Given the description of an element on the screen output the (x, y) to click on. 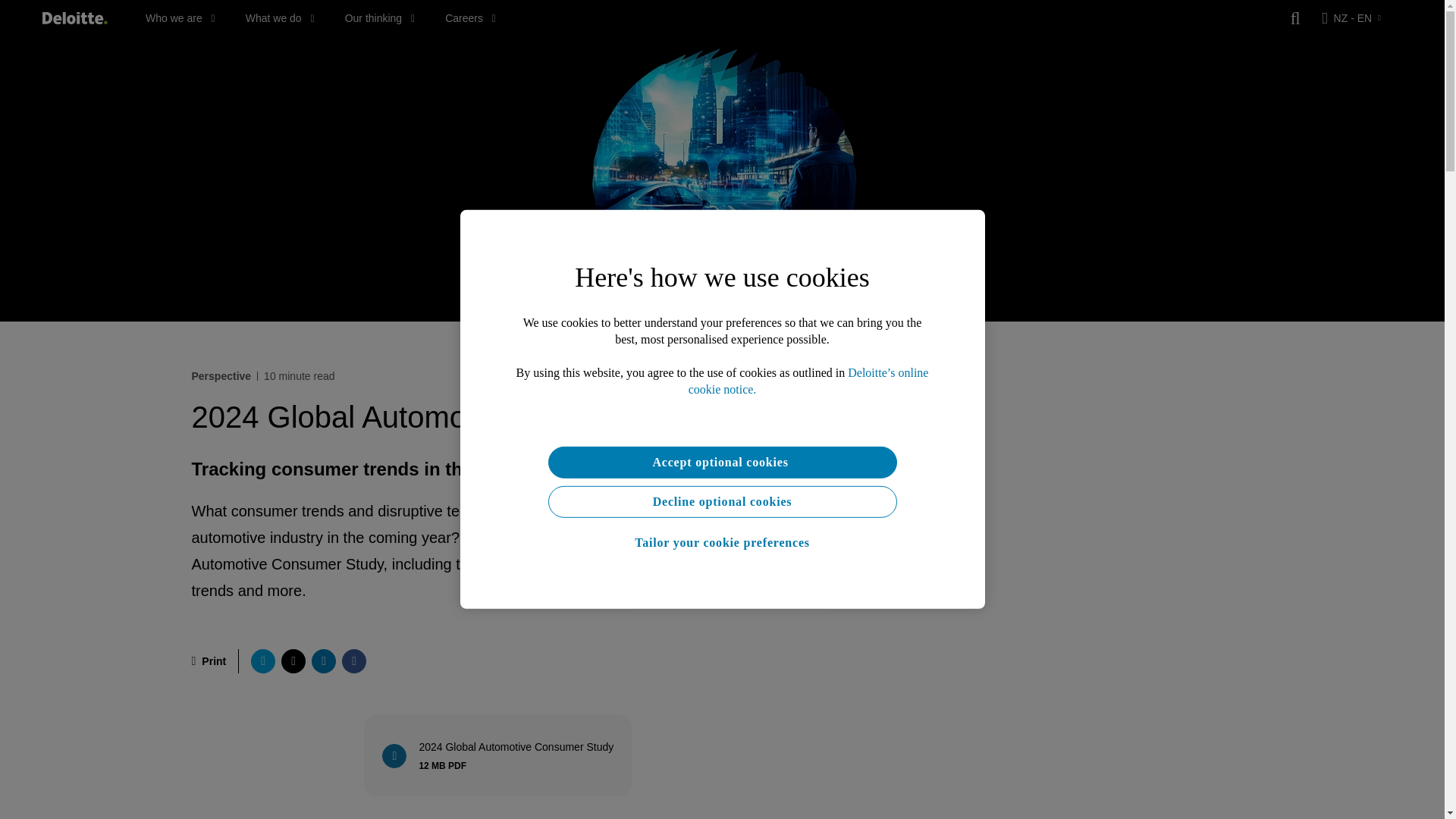
share via twitter (293, 661)
share via linkedin (500, 759)
share via email (323, 661)
Who we are (500, 755)
Print (262, 661)
Our thinking (180, 18)
Deloitte (207, 661)
Careers (379, 18)
What we do (74, 18)
share via facebook (470, 18)
